Given the description of an element on the screen output the (x, y) to click on. 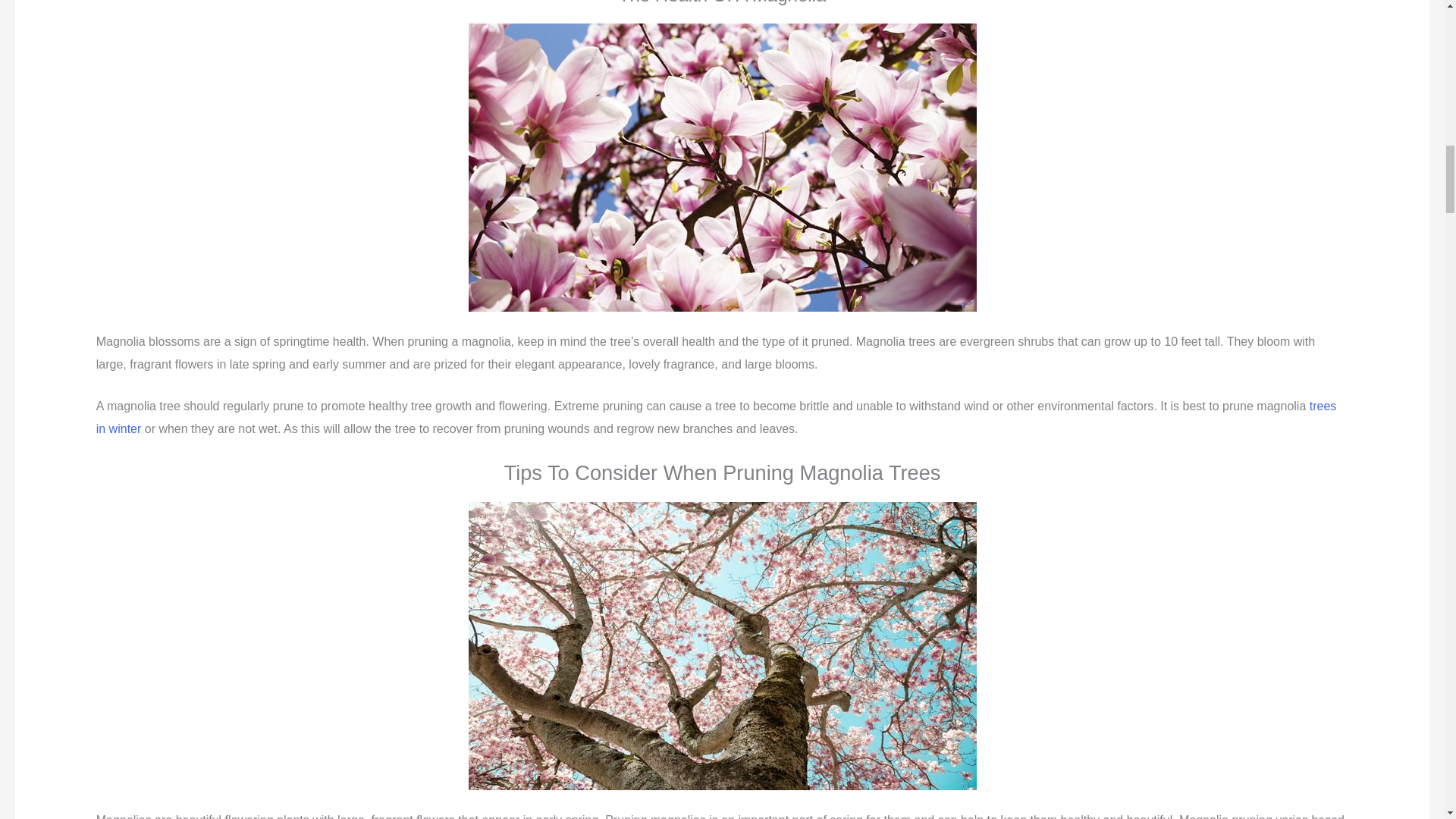
trees in winter (716, 416)
